Given the description of an element on the screen output the (x, y) to click on. 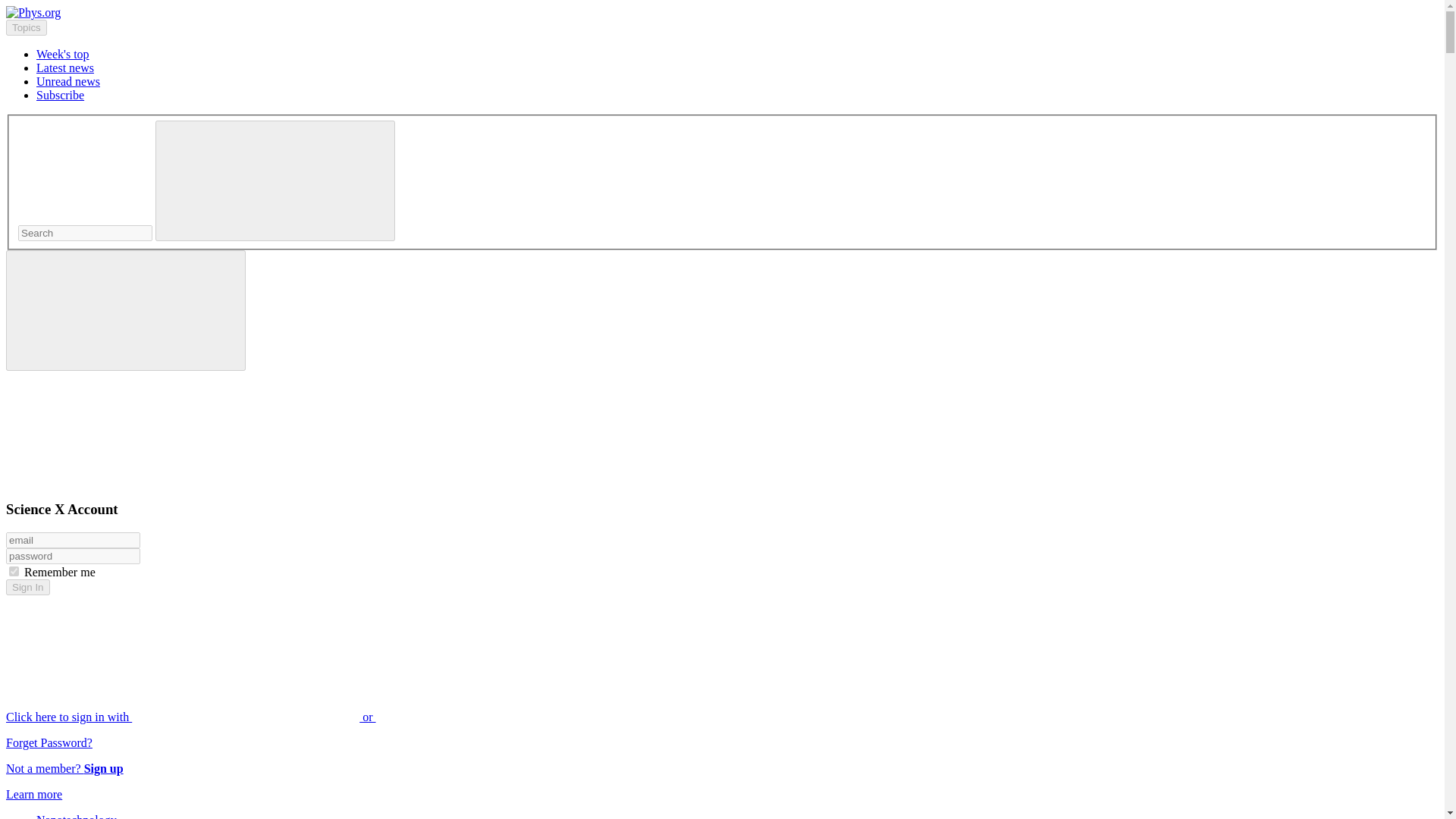
Subscribe (60, 94)
Latest news (65, 67)
Week's top (62, 53)
Not a member? Sign up (64, 768)
Click here to sign in with or (304, 716)
Topics (25, 27)
Unread news (68, 81)
Nanotechnology (76, 816)
Forget Password? (49, 742)
Learn more (33, 793)
Sign In (27, 587)
on (13, 571)
